Given the description of an element on the screen output the (x, y) to click on. 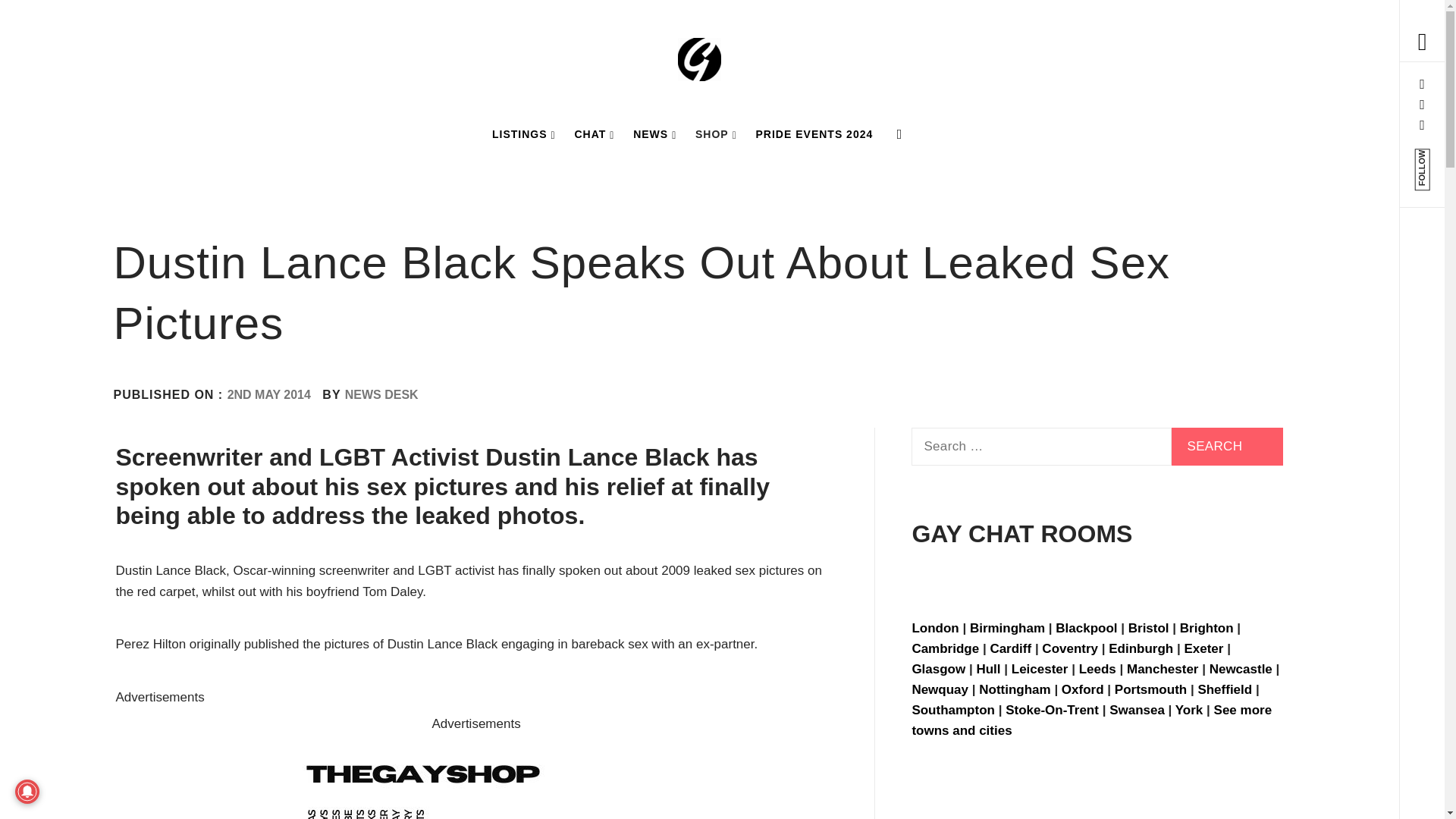
Search (1227, 446)
NEWS (655, 134)
CHAT (593, 134)
PRIDE EVENTS 2024 (814, 134)
Search (1227, 446)
LISTINGS (523, 134)
2ND MAY 2014 (269, 394)
NEWS DESK (382, 394)
SHOP (715, 134)
Search (646, 37)
